Given the description of an element on the screen output the (x, y) to click on. 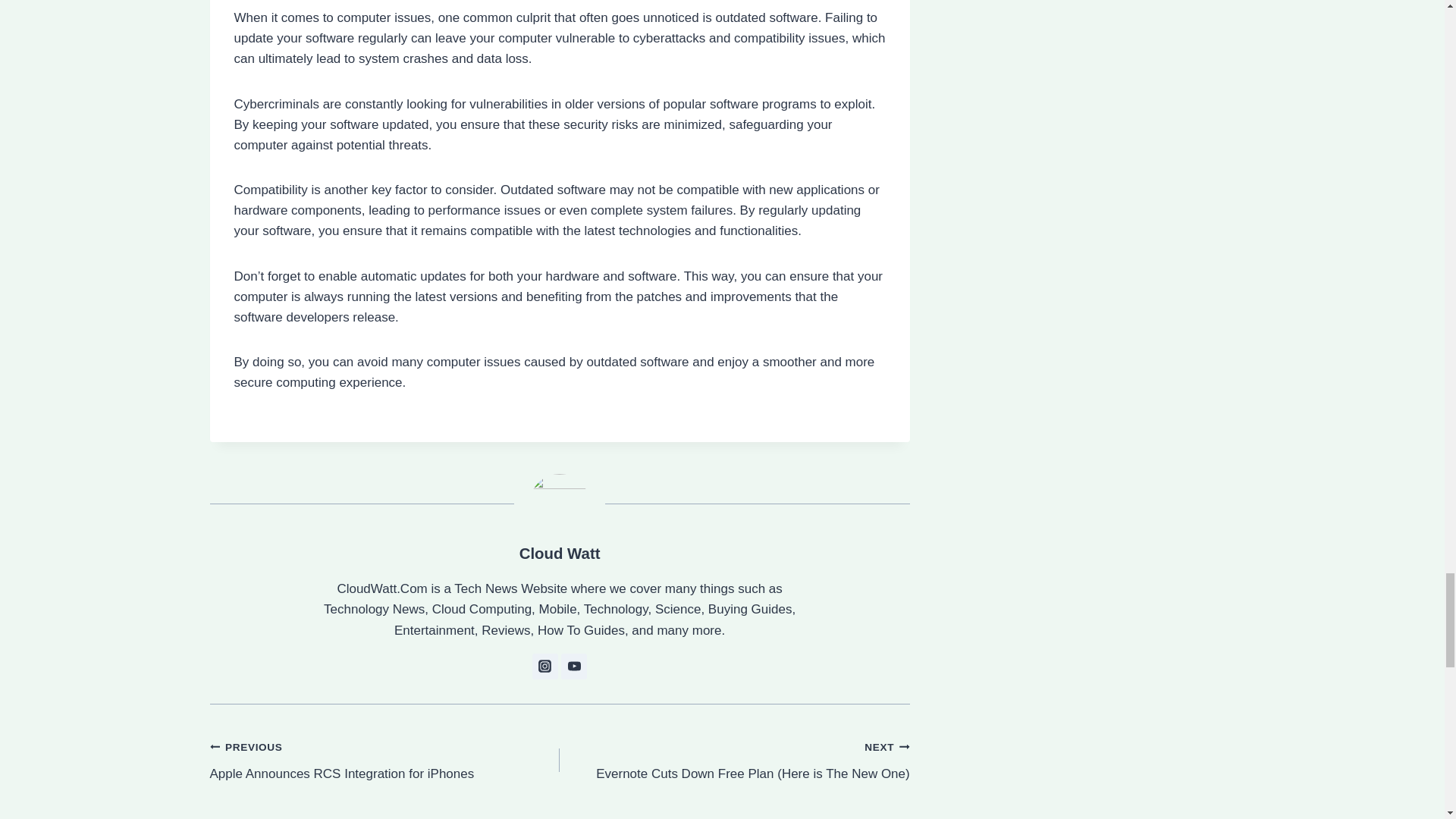
Follow Cloud Watt on Youtube (573, 666)
Posts by Cloud Watt (559, 553)
Follow Cloud Watt on Instagram (544, 666)
Cloud Watt (559, 553)
